Given the description of an element on the screen output the (x, y) to click on. 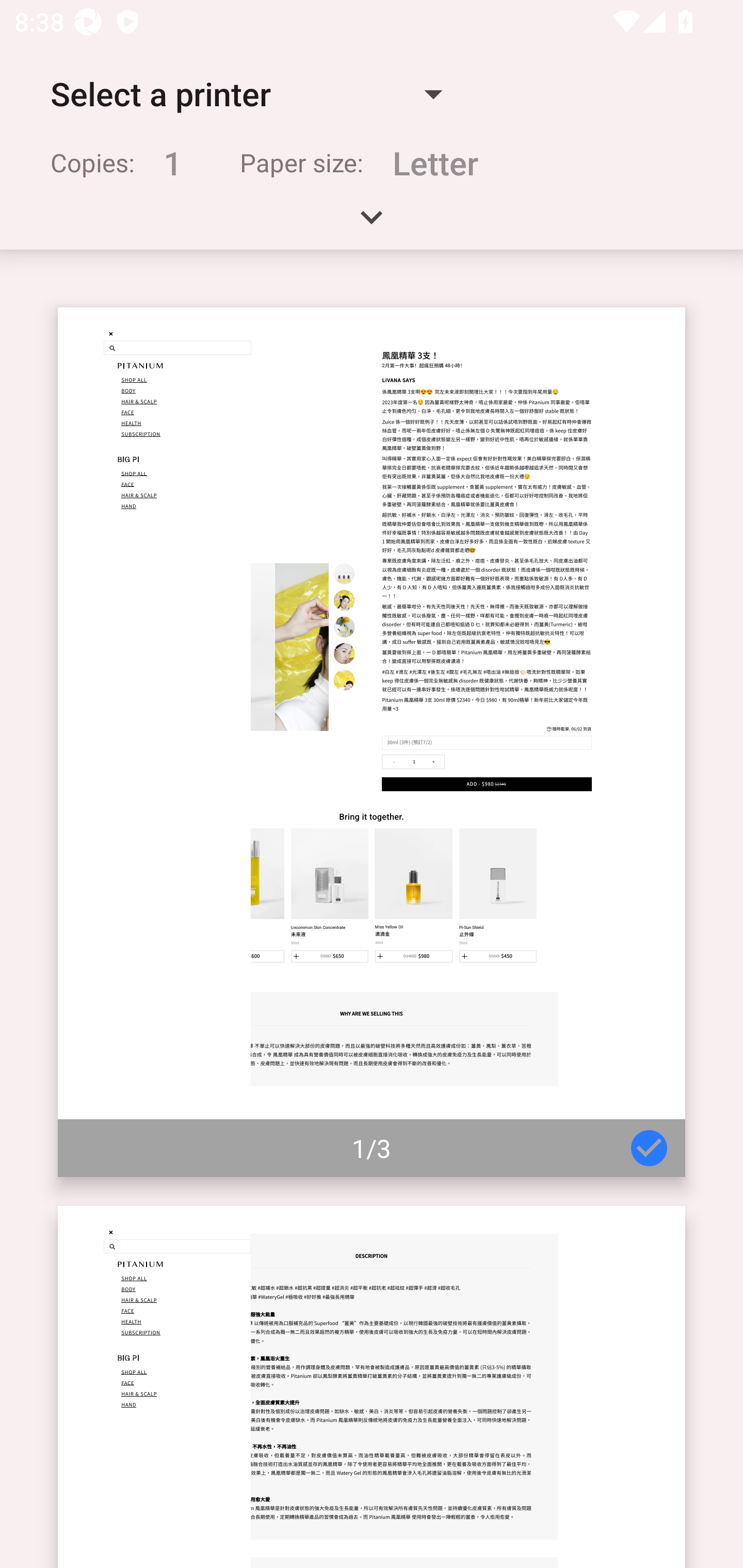
Select a printer (245, 93)
Expand handle (371, 224)
Page 1 of 3 1/3 (371, 742)
Page 2 of 3 (371, 1386)
